Given the description of an element on the screen output the (x, y) to click on. 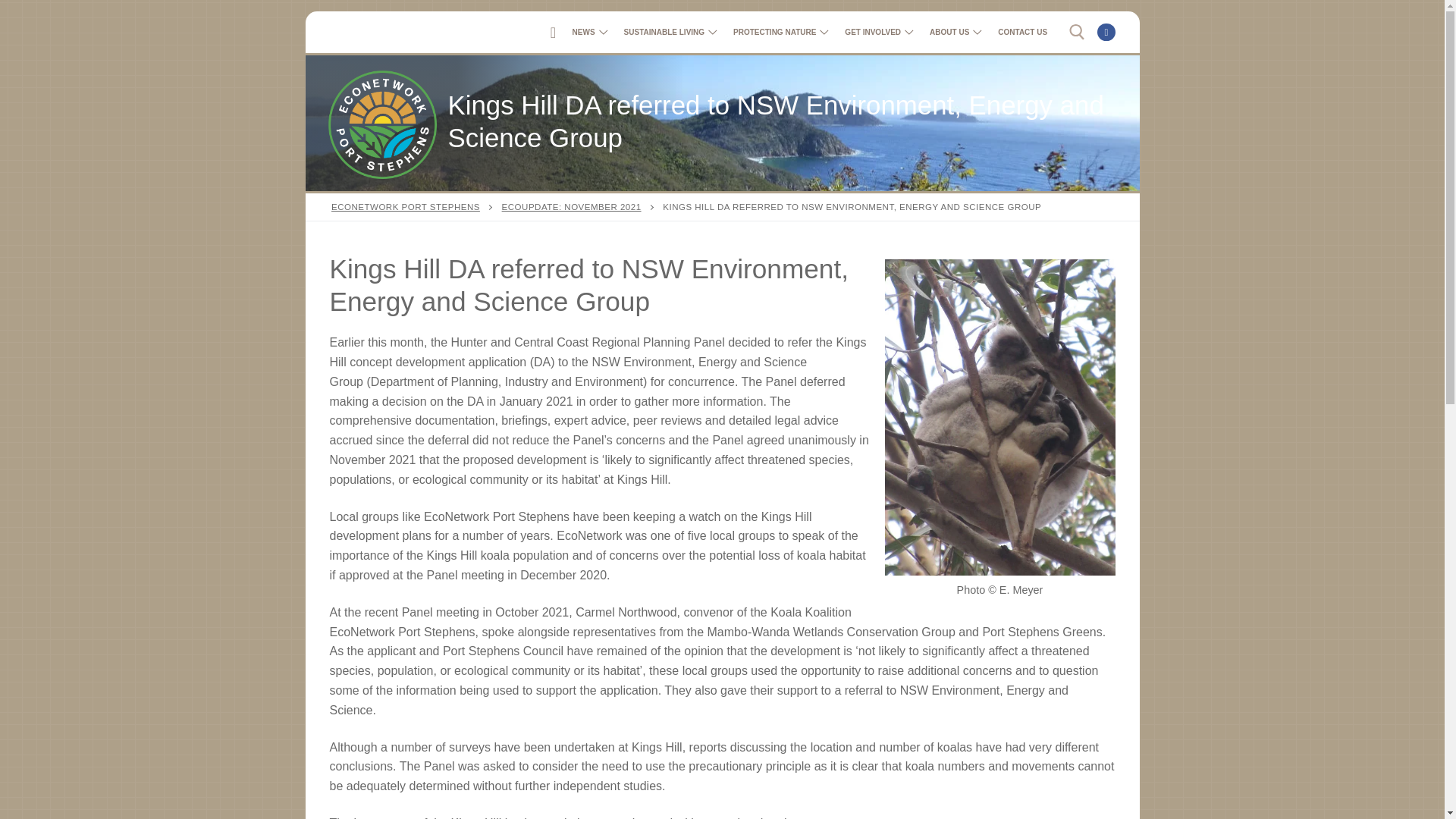
CONTACT US (778, 32)
Facebook (1022, 32)
Go to EcoUpdate: November 2021. (954, 32)
Go to EcoNetwork Port Stephens. (1105, 31)
Skip to content (877, 32)
